Given the description of an element on the screen output the (x, y) to click on. 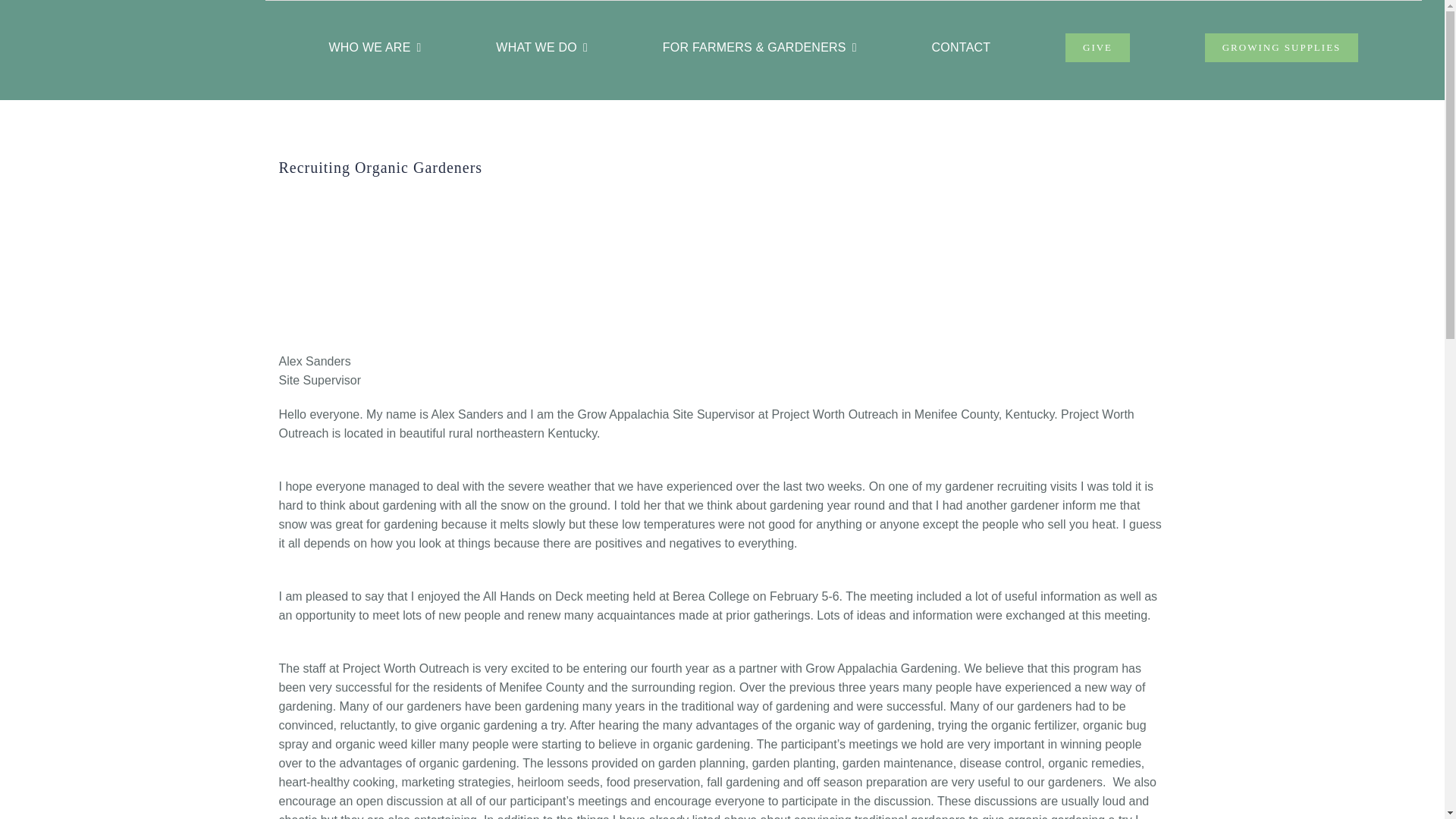
GROWING SUPPLIES (1281, 47)
WHO WE ARE (374, 47)
CONTACT (961, 47)
WHAT WE DO (542, 47)
GIVE (1097, 47)
